Given the description of an element on the screen output the (x, y) to click on. 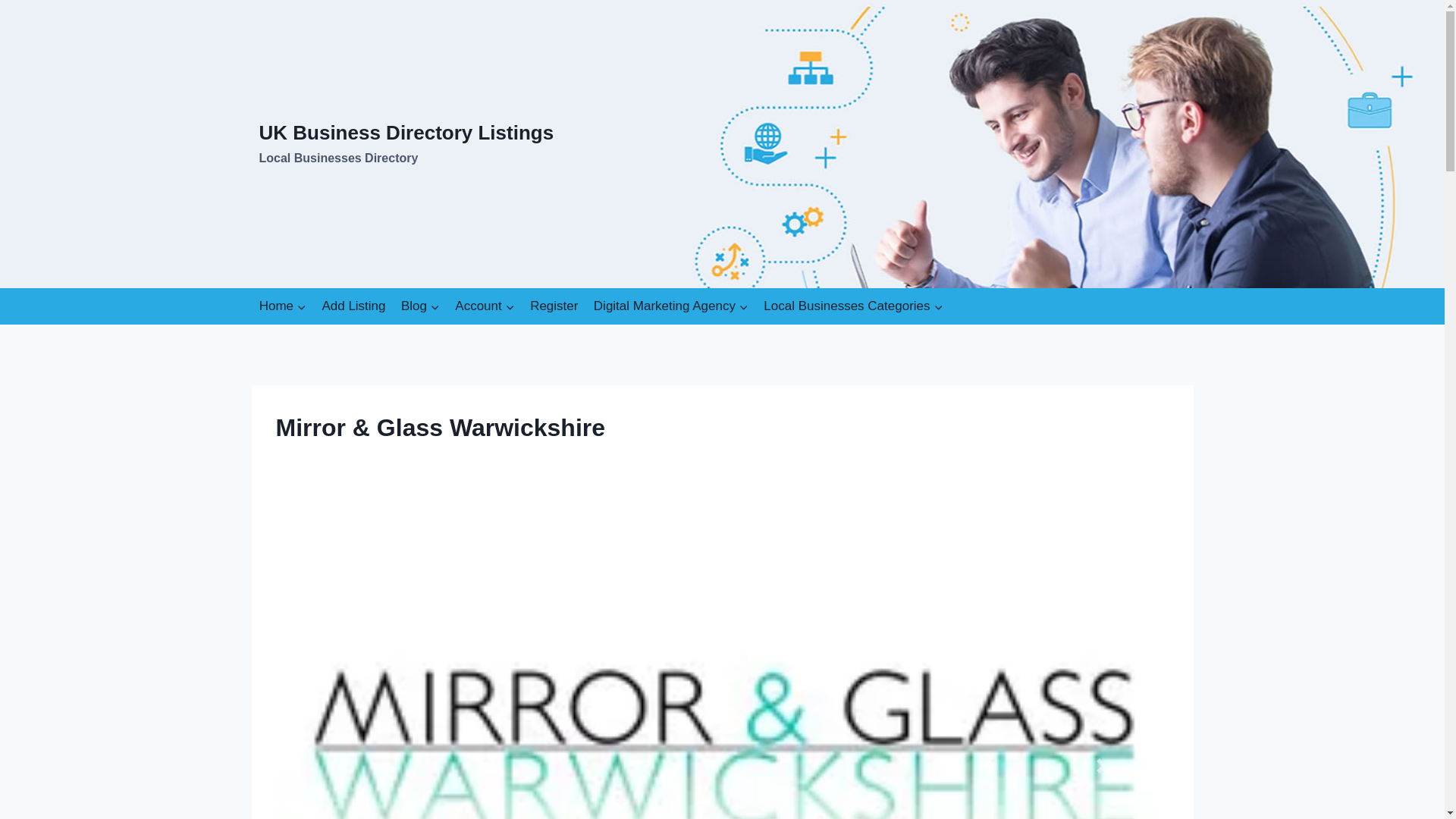
Add Listing (353, 306)
Blog (419, 306)
Account (484, 306)
Local Businesses Categories (852, 306)
Home (282, 306)
Register (554, 306)
Digital Marketing Agency (406, 144)
